Given the description of an element on the screen output the (x, y) to click on. 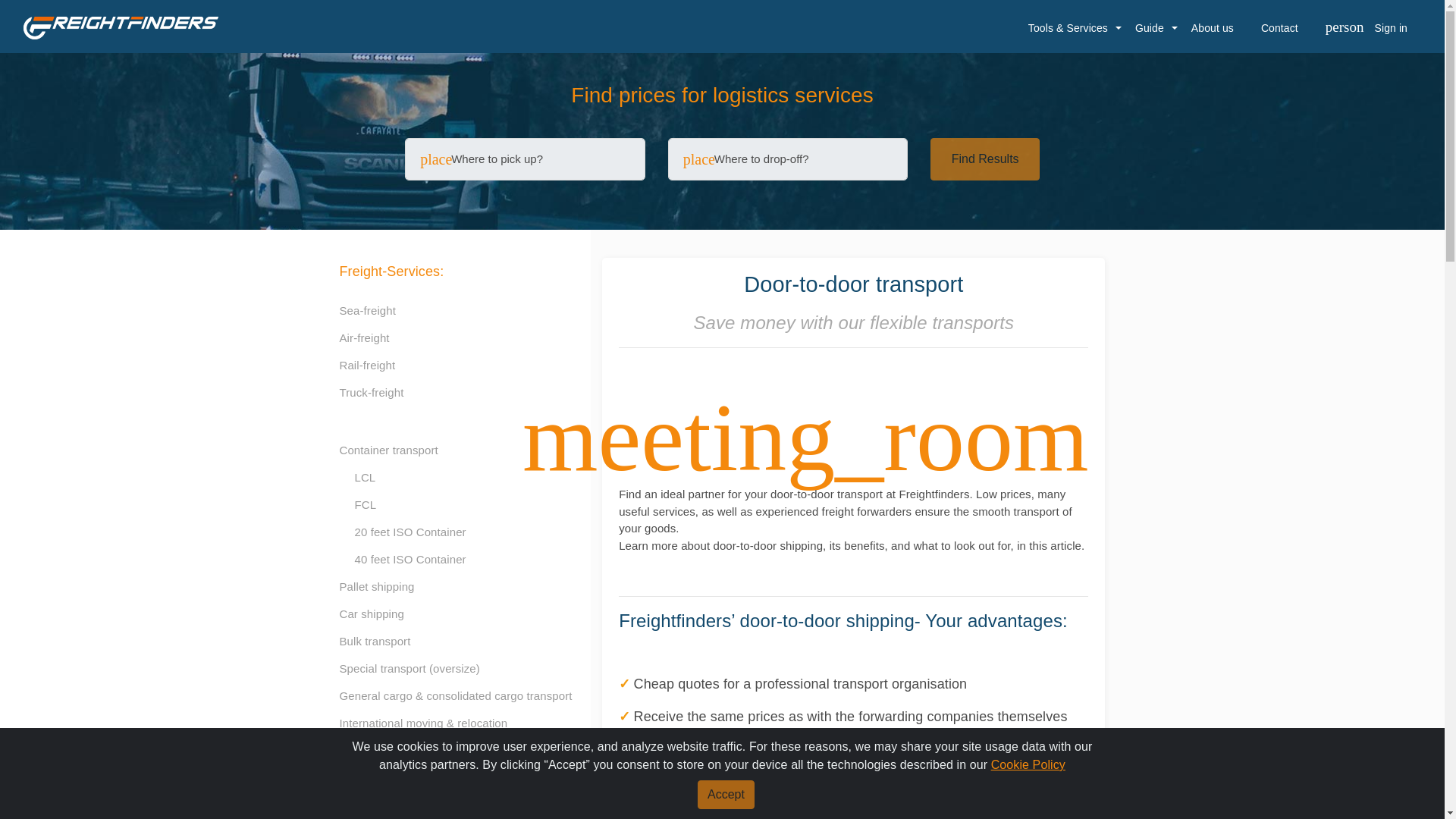
Contact (1279, 28)
Login (1348, 270)
Guide (1149, 28)
Find Results (984, 159)
About us (1212, 28)
personSign in (1366, 28)
